Given the description of an element on the screen output the (x, y) to click on. 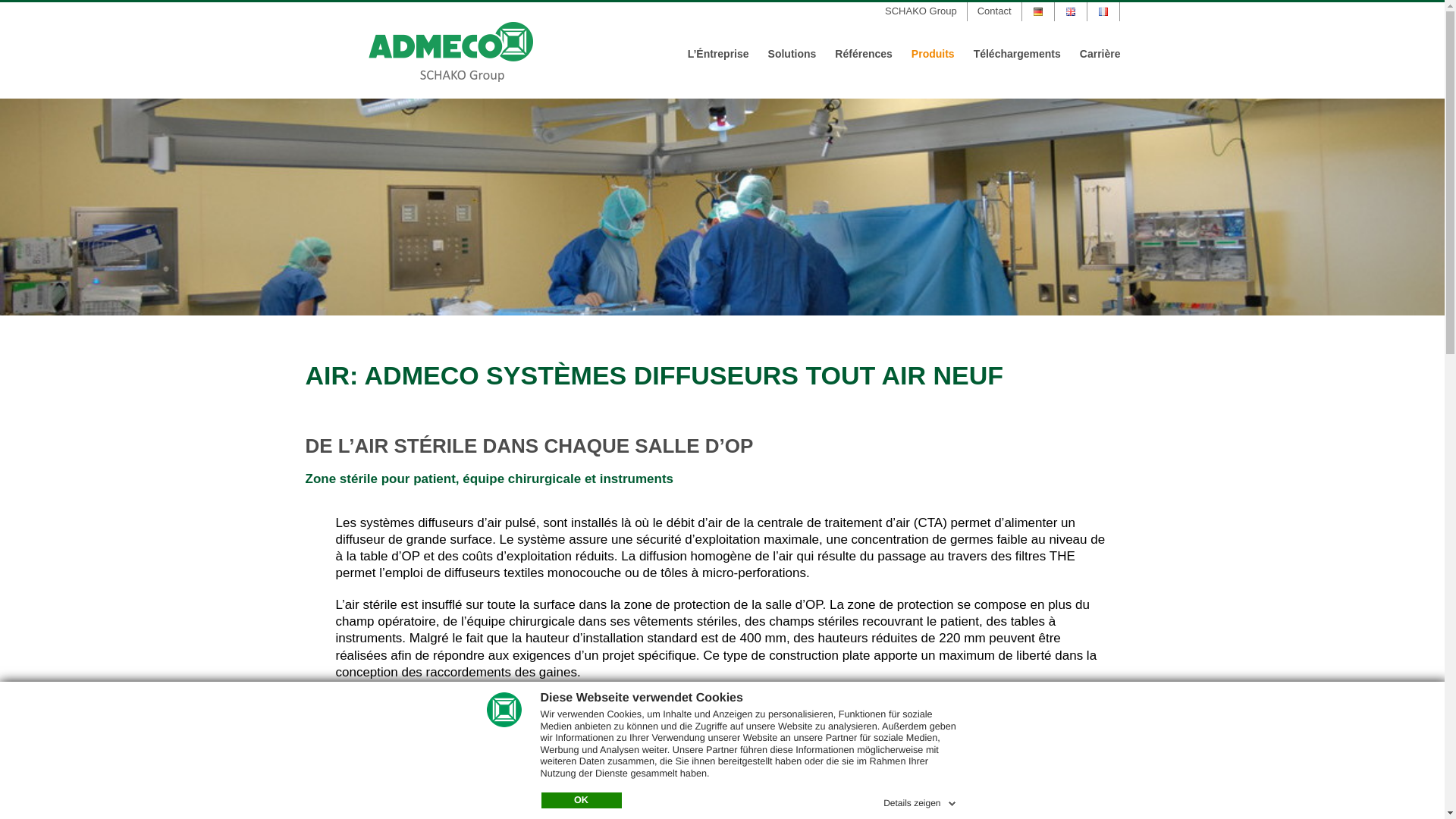
Solutions Element type: text (792, 53)
Contact Element type: text (994, 11)
SCHAKO Group Element type: text (920, 11)
OK Element type: text (581, 800)
ADMECO | AIR: ADMECO Supply air systems FFD Element type: hover (722, 206)
Produits Element type: text (932, 53)
Details zeigen Element type: text (920, 800)
